Given the description of an element on the screen output the (x, y) to click on. 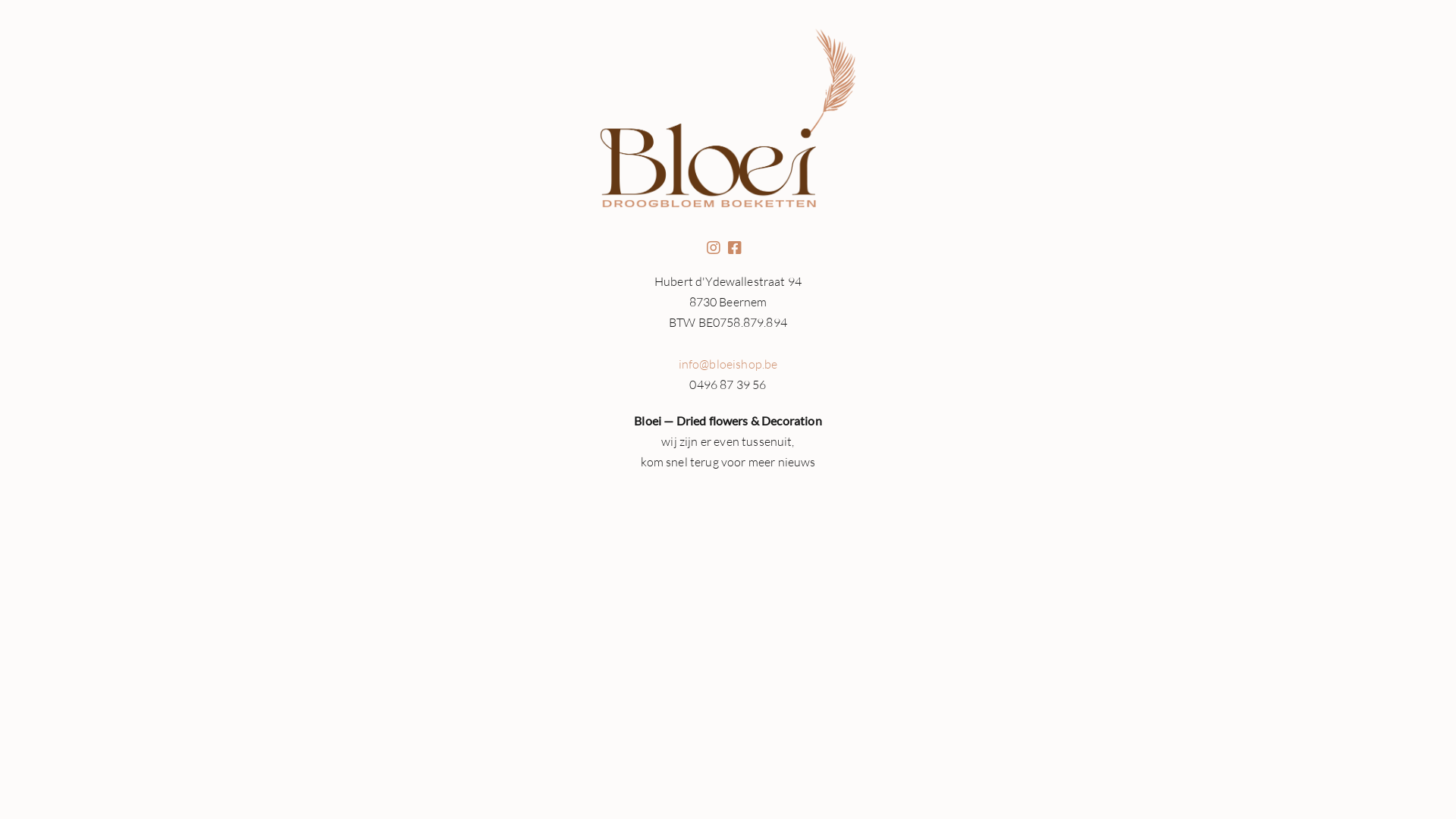
info@bloeishop.be Element type: text (728, 363)
